Given the description of an element on the screen output the (x, y) to click on. 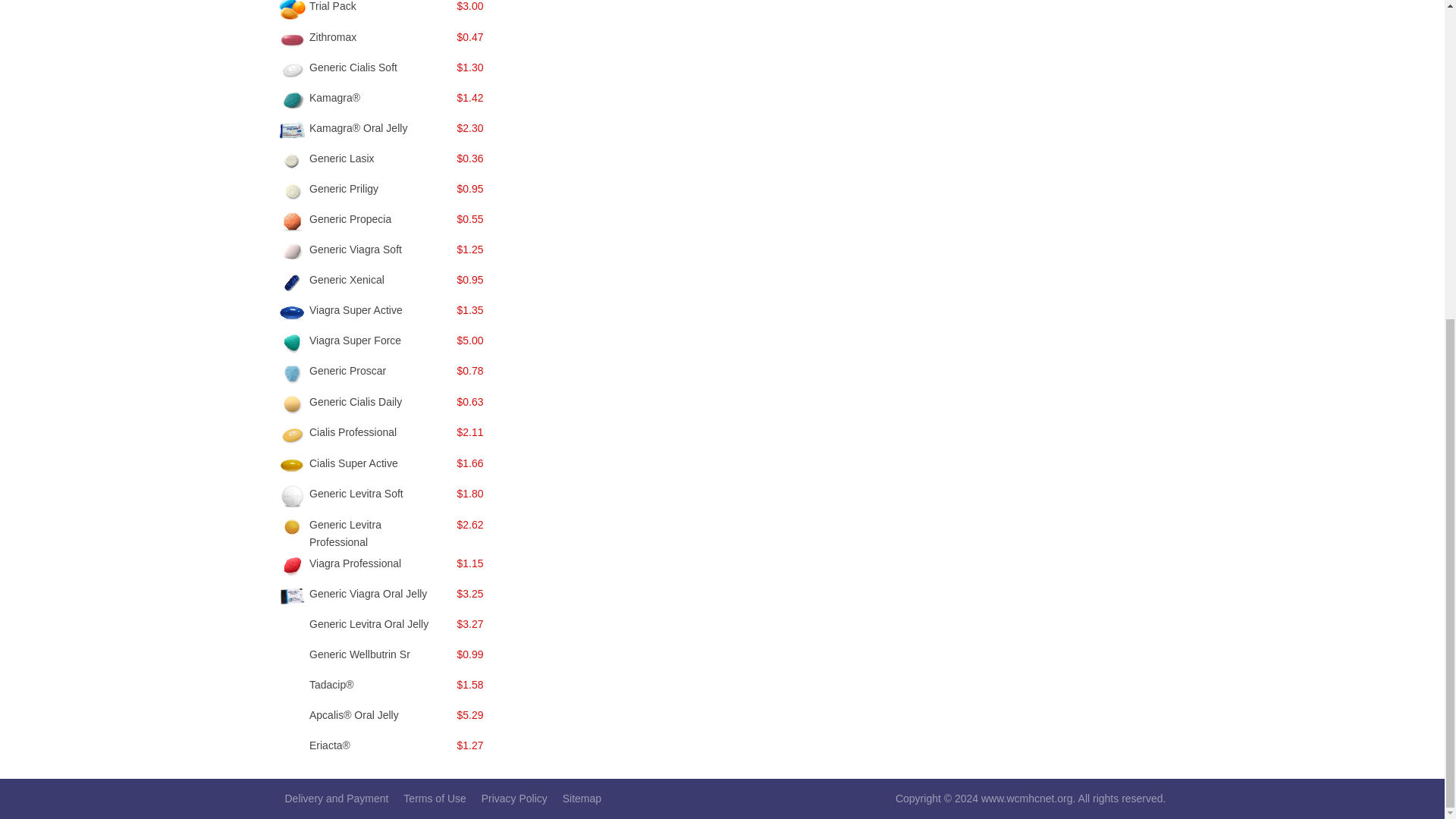
Generic Priligy (343, 188)
Generic Cialis Soft (352, 67)
Viagra Super Force (354, 340)
Generic Viagra Soft (354, 249)
Generic Propecia (349, 218)
Zithromax (332, 37)
Generic Xenical (346, 279)
Viagra Super Active (355, 309)
Generic Lasix (341, 158)
Trial Pack (332, 6)
